Given the description of an element on the screen output the (x, y) to click on. 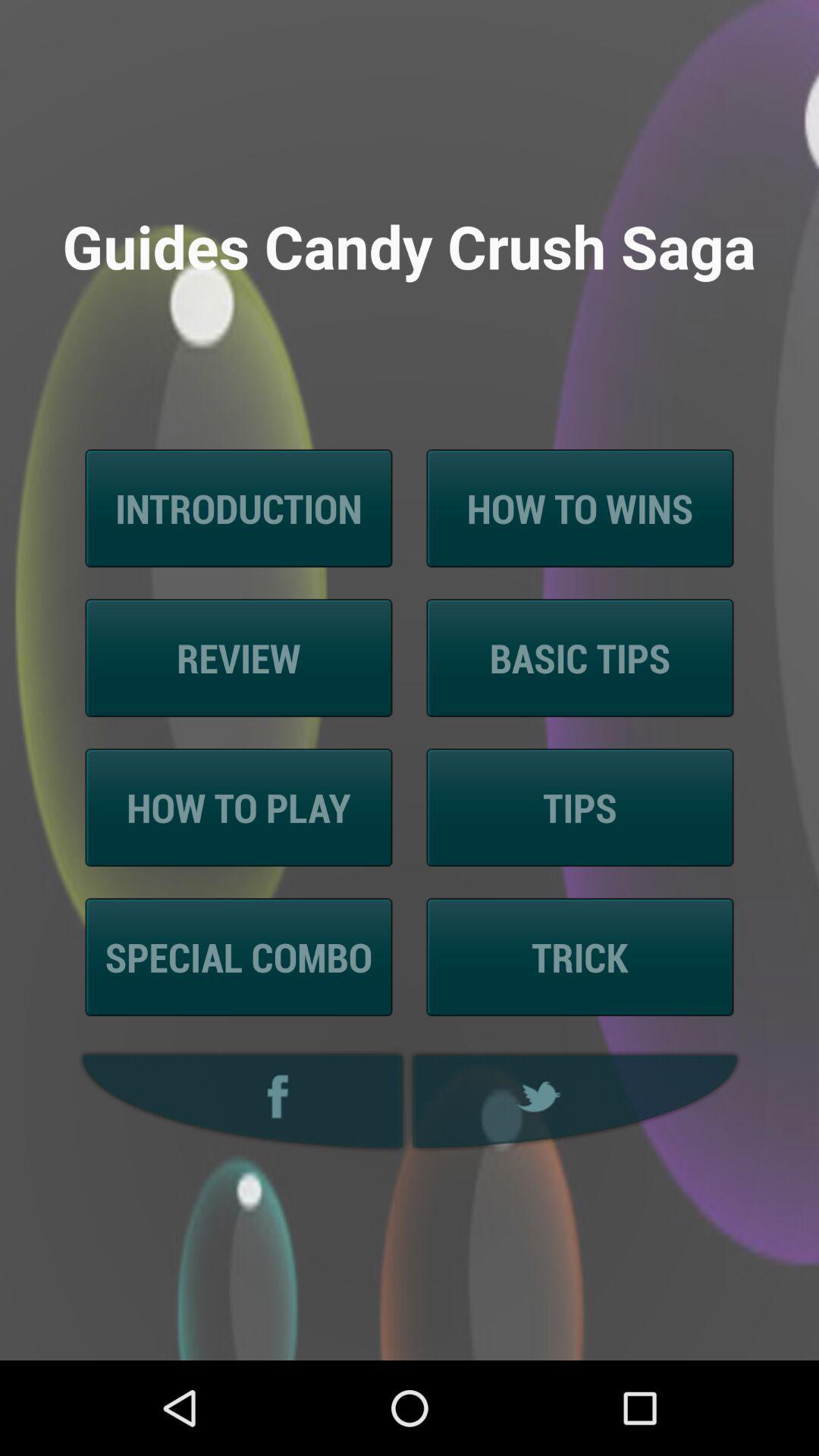
swipe until review icon (238, 657)
